Given the description of an element on the screen output the (x, y) to click on. 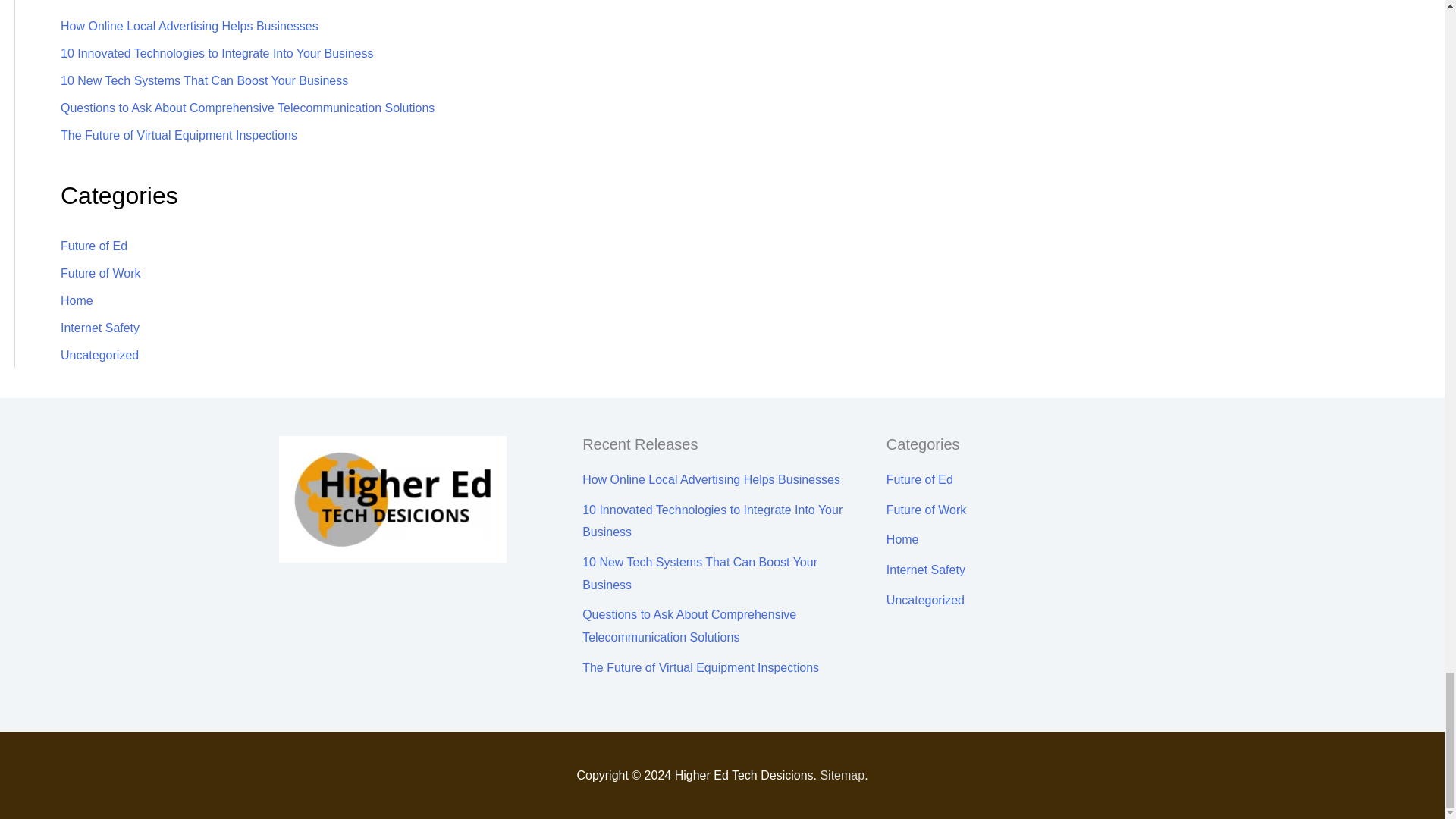
10 New Tech Systems That Can Boost Your Business (204, 80)
10 Innovated Technologies to Integrate Into Your Business (216, 52)
The Future of Virtual Equipment Inspections (179, 134)
How Online Local Advertising Helps Businesses (189, 25)
Future of Ed (94, 245)
